Given the description of an element on the screen output the (x, y) to click on. 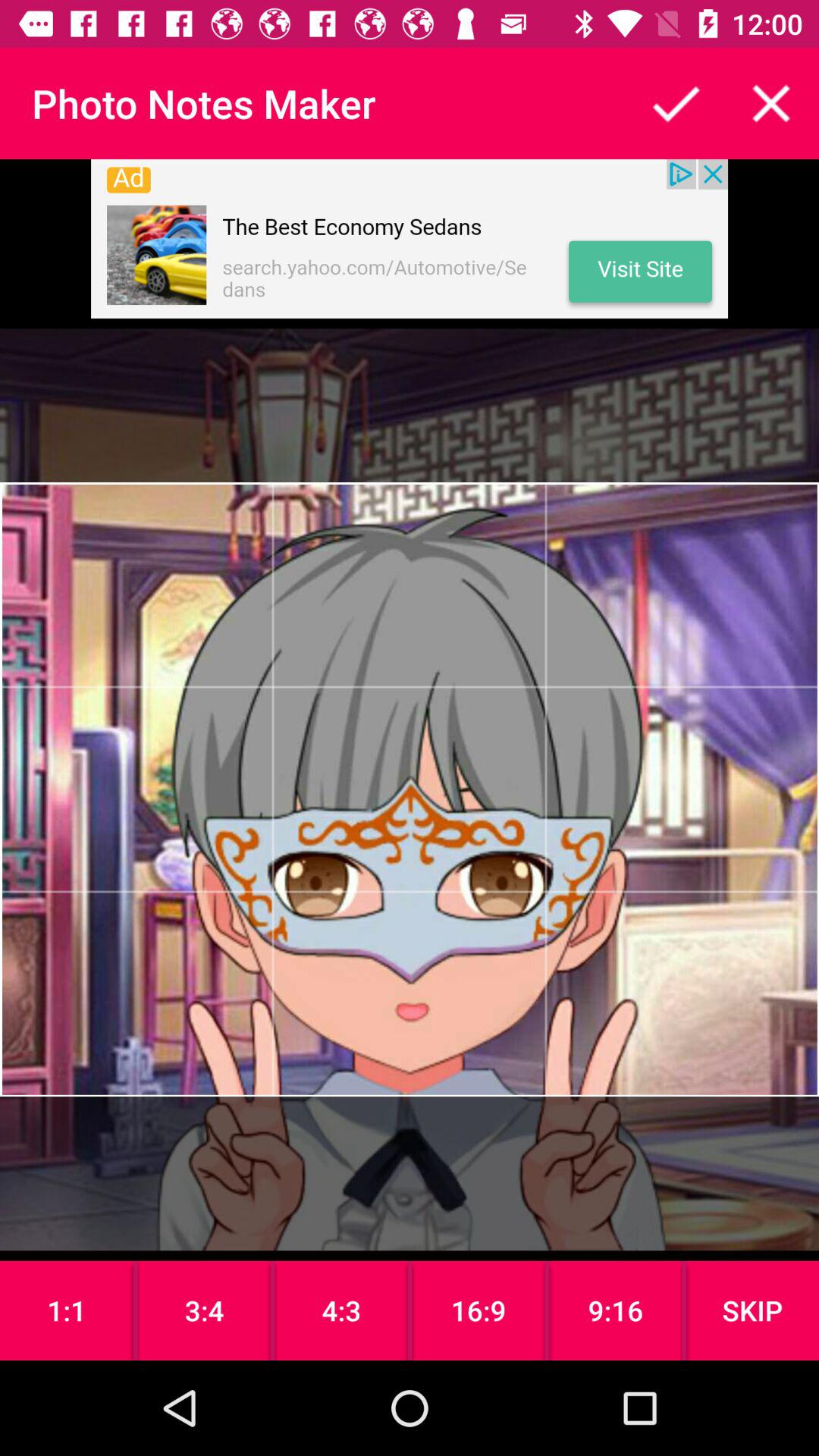
close (771, 103)
